Given the description of an element on the screen output the (x, y) to click on. 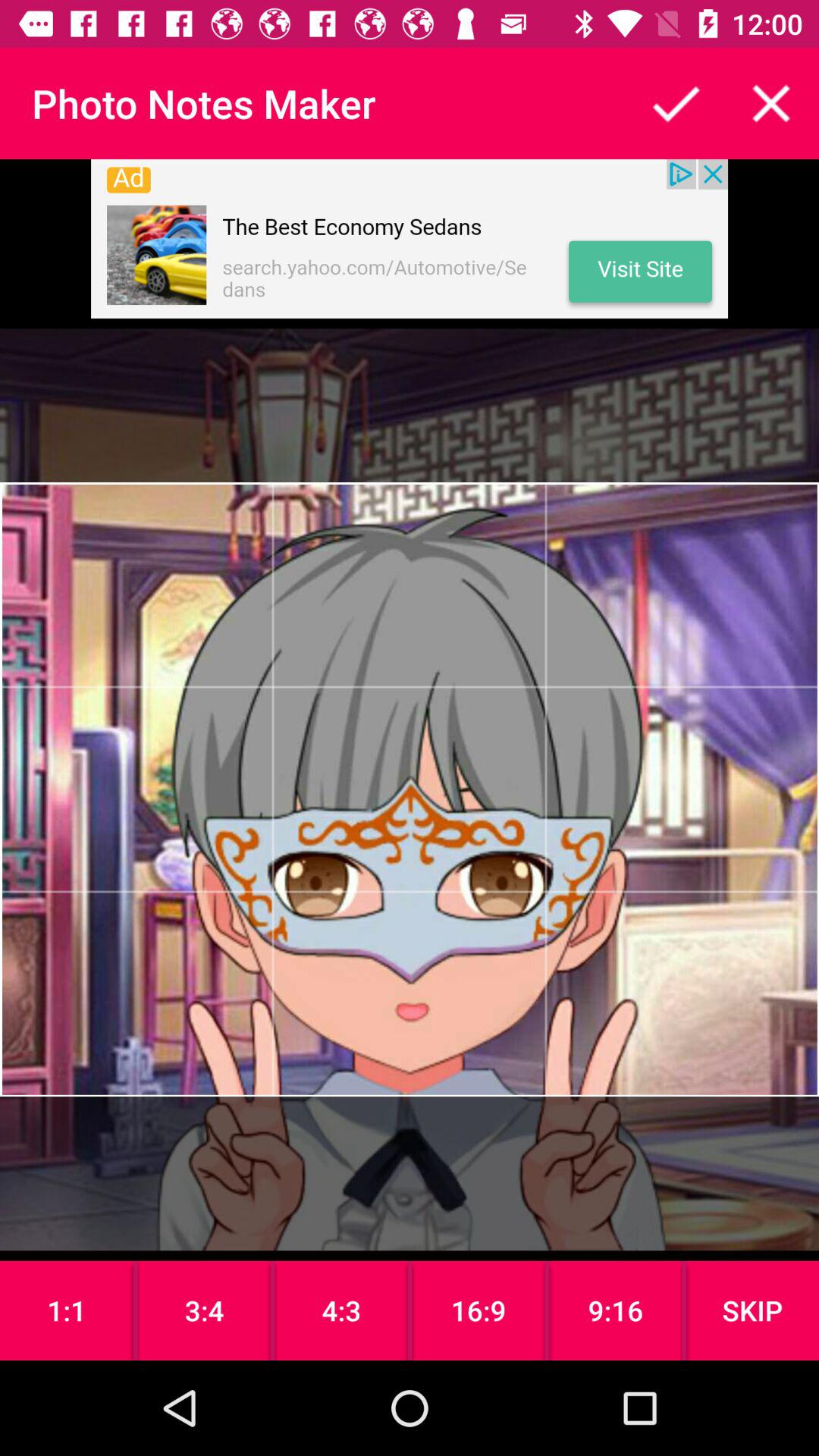
close (771, 103)
